Given the description of an element on the screen output the (x, y) to click on. 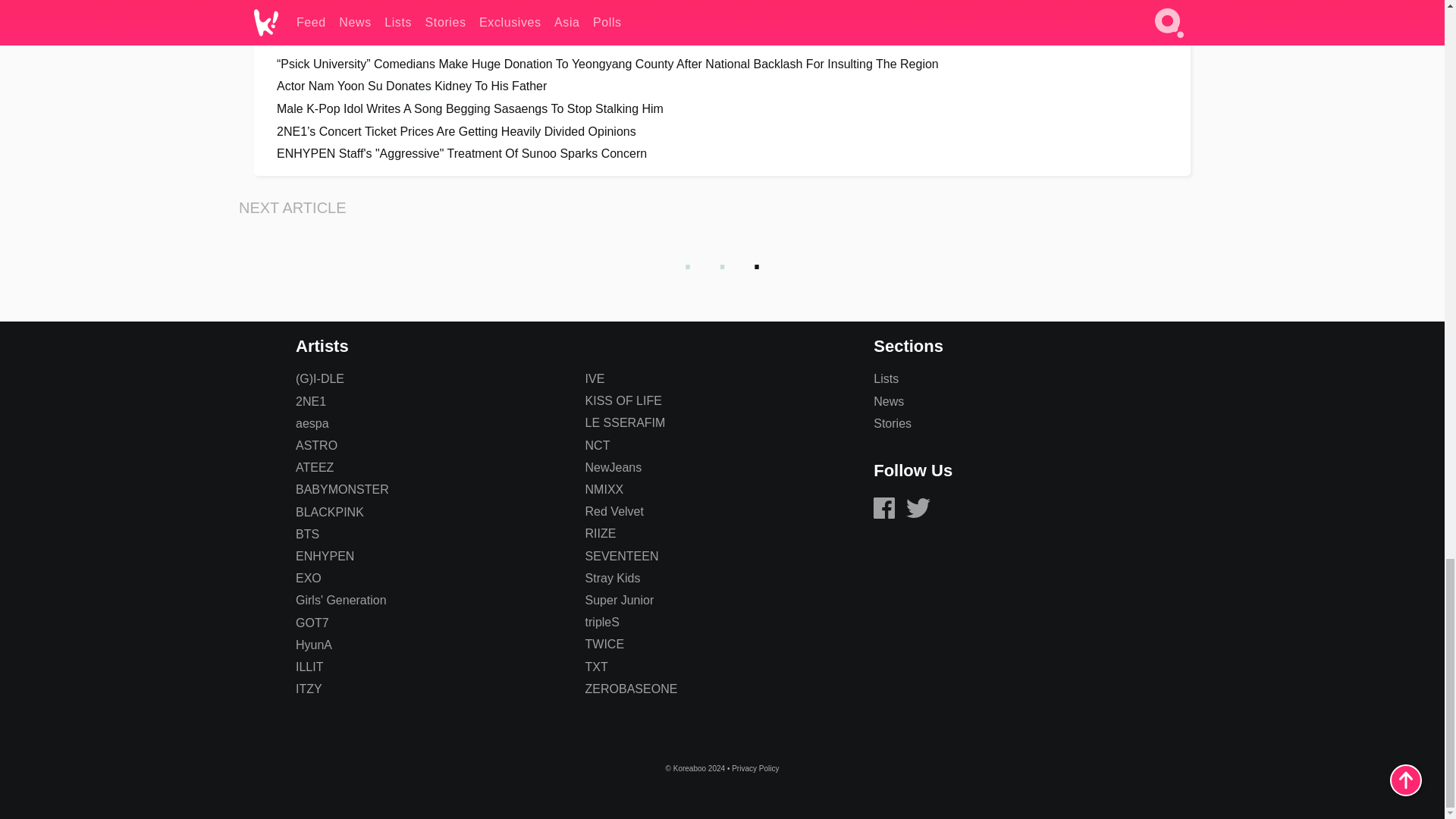
GOT7 (312, 622)
EXO (308, 577)
IVE (595, 378)
Girls' Generation (341, 599)
2NE1 (310, 400)
BTS (306, 533)
ATEEZ (314, 467)
BLACKPINK (329, 512)
ILLIT (309, 666)
KISS OF LIFE (623, 400)
aespa (312, 422)
HyunA (313, 644)
ASTRO (316, 445)
